Given the description of an element on the screen output the (x, y) to click on. 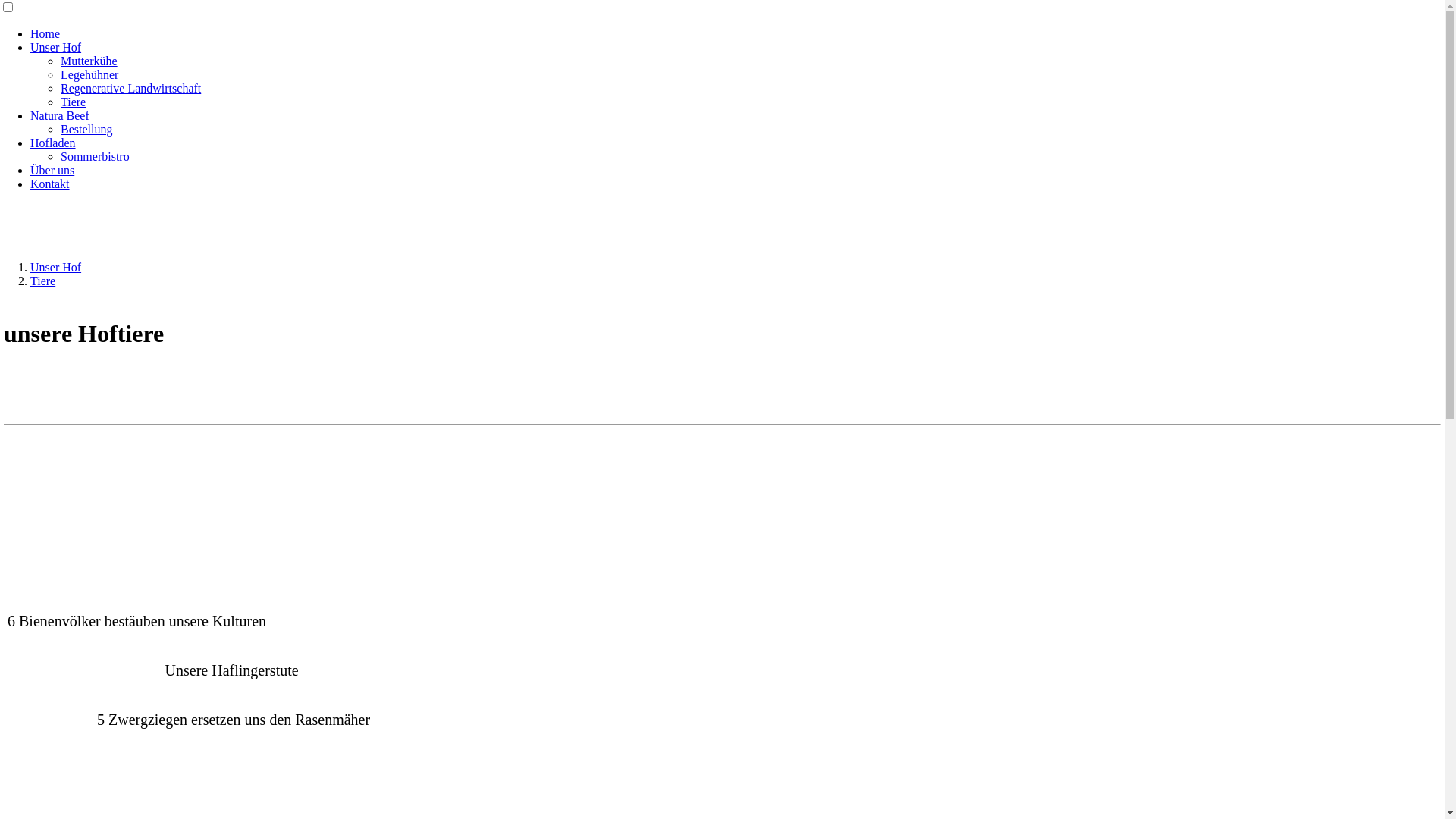
Sommerbistro Element type: text (94, 156)
Unser Hof Element type: text (55, 46)
Unser Hof Element type: text (55, 266)
Regenerative Landwirtschaft Element type: text (130, 87)
Bestellung Element type: text (86, 128)
Natura Beef Element type: text (59, 115)
Hofladen Element type: text (52, 142)
Kontakt Element type: text (49, 183)
Home Element type: text (44, 33)
Tiere Element type: text (72, 101)
Tiere Element type: text (42, 280)
